Given the description of an element on the screen output the (x, y) to click on. 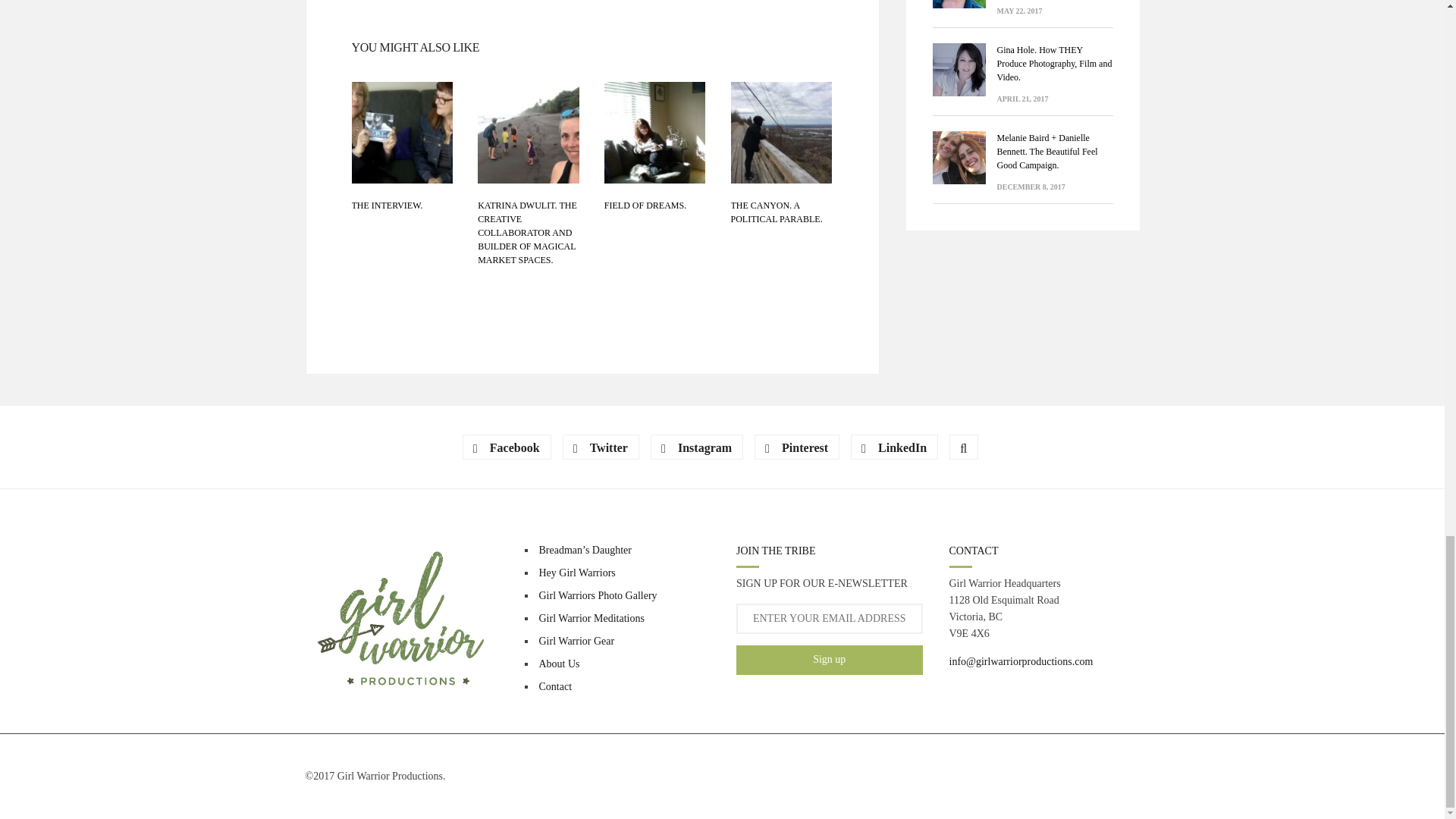
Sign up (829, 659)
The Interview. (402, 131)
The Canyon. A Political Parable. (776, 211)
The Interview. (387, 204)
THE CANYON. A POLITICAL PARABLE. (776, 211)
The Canyon. A Political Parable. (780, 131)
Field of Dreams. (644, 204)
